Given the description of an element on the screen output the (x, y) to click on. 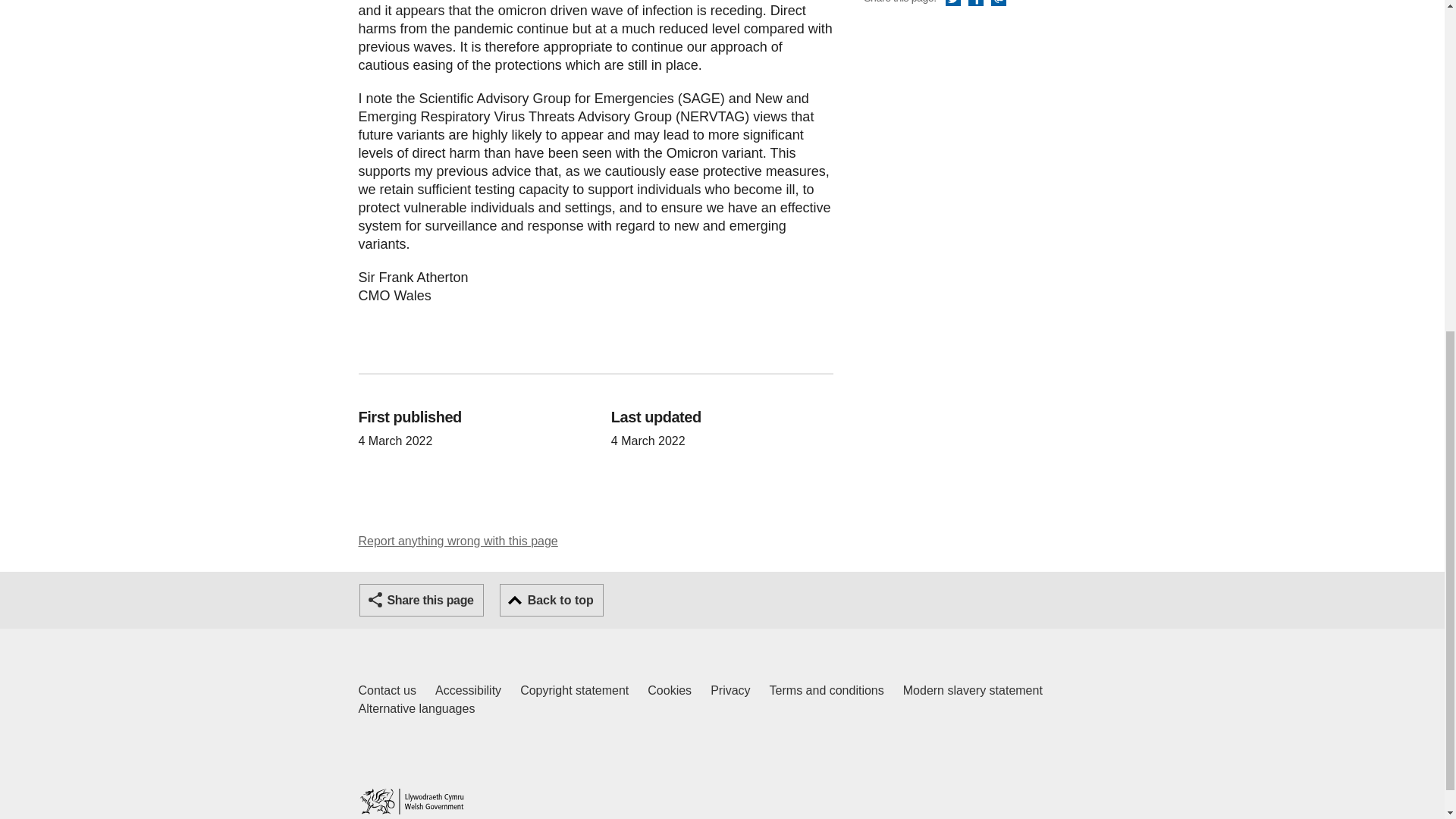
Home (411, 801)
Privacy (729, 690)
Cookies (669, 690)
Accessibility (386, 690)
Alternative languages (467, 690)
Email (416, 709)
Back to top (998, 3)
Twitter (551, 599)
Share this page (952, 3)
